Given the description of an element on the screen output the (x, y) to click on. 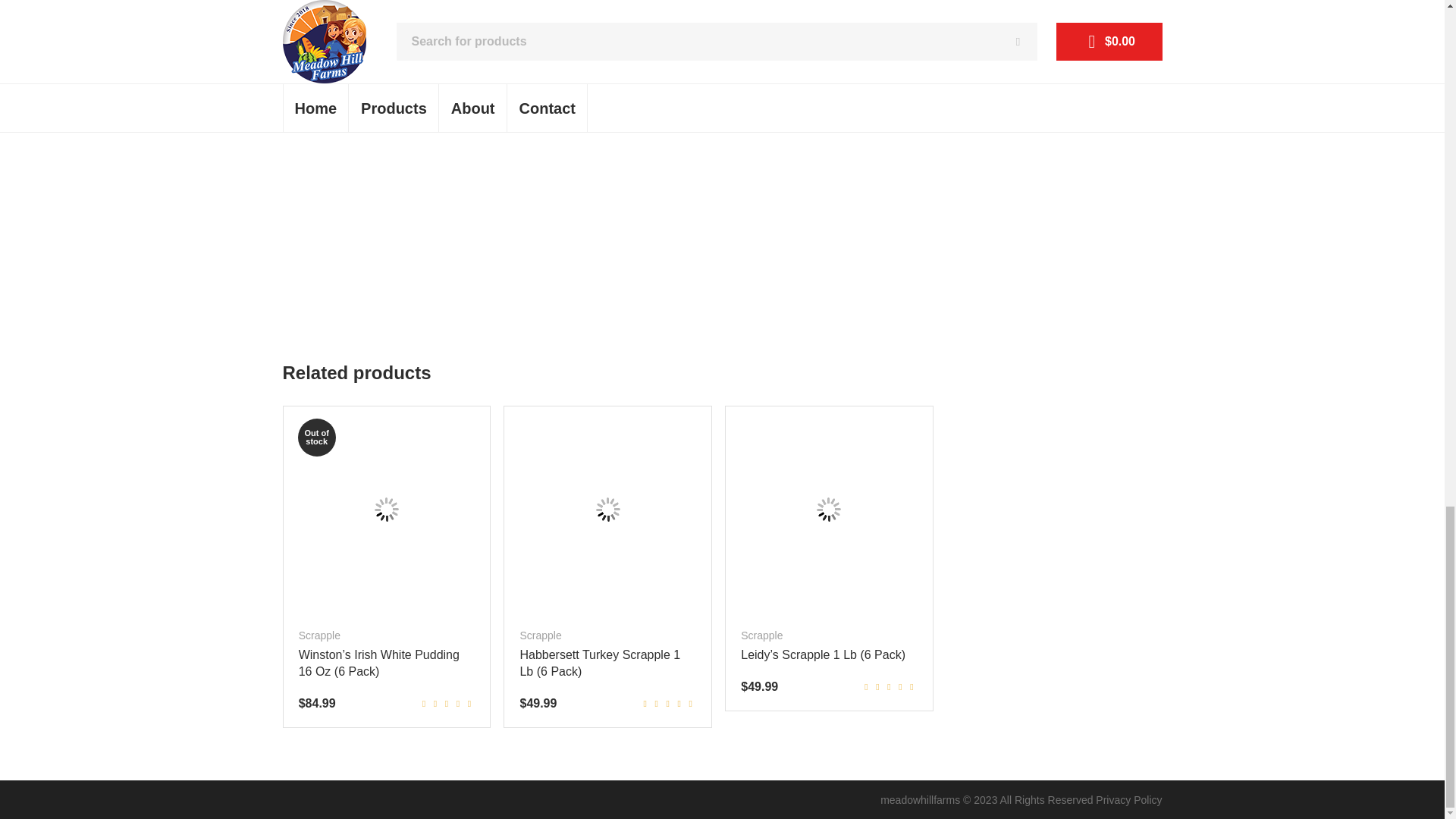
Rated 0 out of 5 (446, 703)
Scrapple (762, 635)
Scrapple (319, 635)
Rated 0 out of 5 (889, 686)
Scrapple (539, 635)
Rated 0 out of 5 (667, 703)
